Given the description of an element on the screen output the (x, y) to click on. 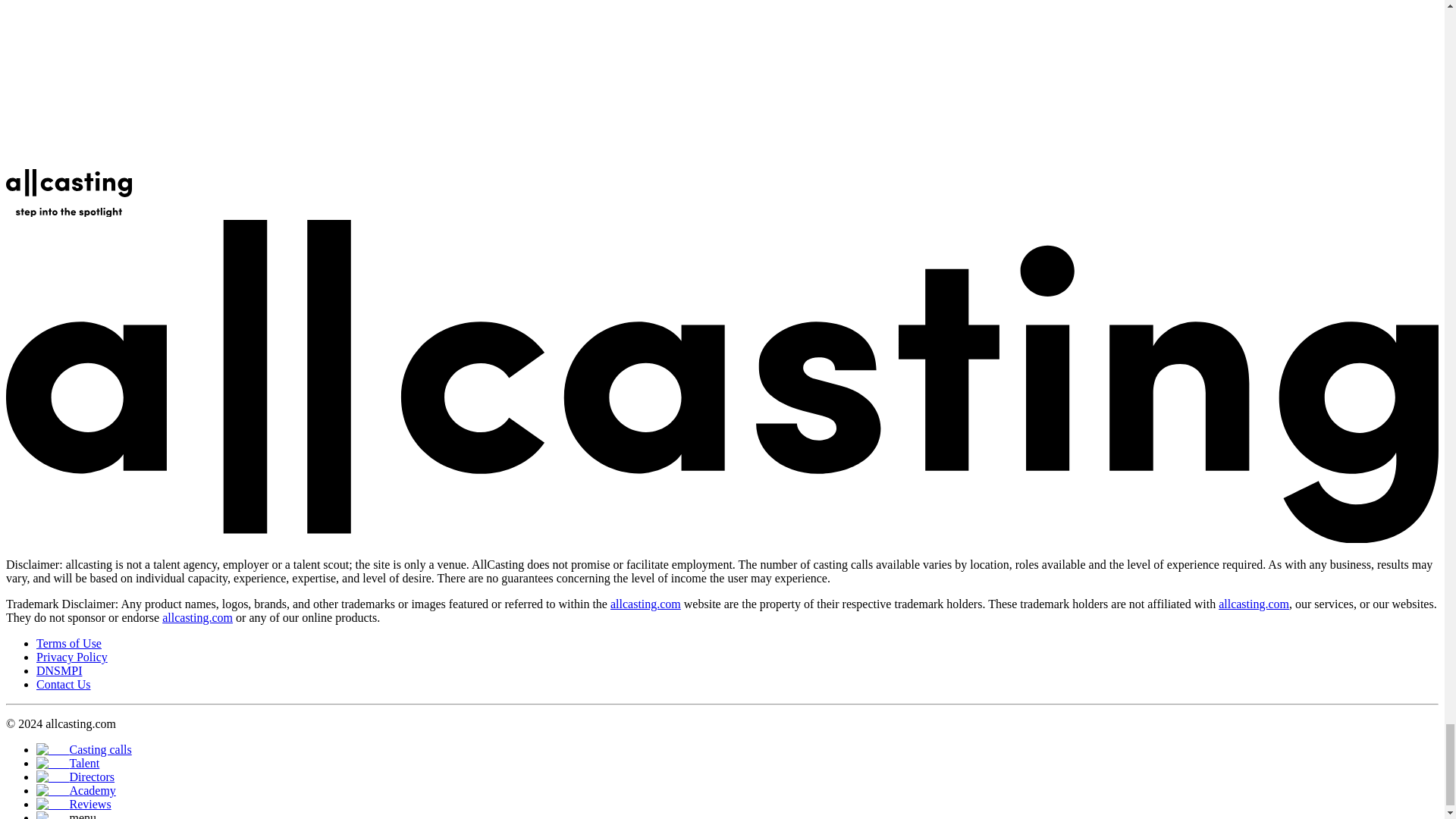
Privacy Policy (71, 656)
allcasting.com (196, 617)
Terms of Use (68, 643)
allcasting.com (1253, 603)
allcasting.com (645, 603)
DNSMPI (58, 670)
